Given the description of an element on the screen output the (x, y) to click on. 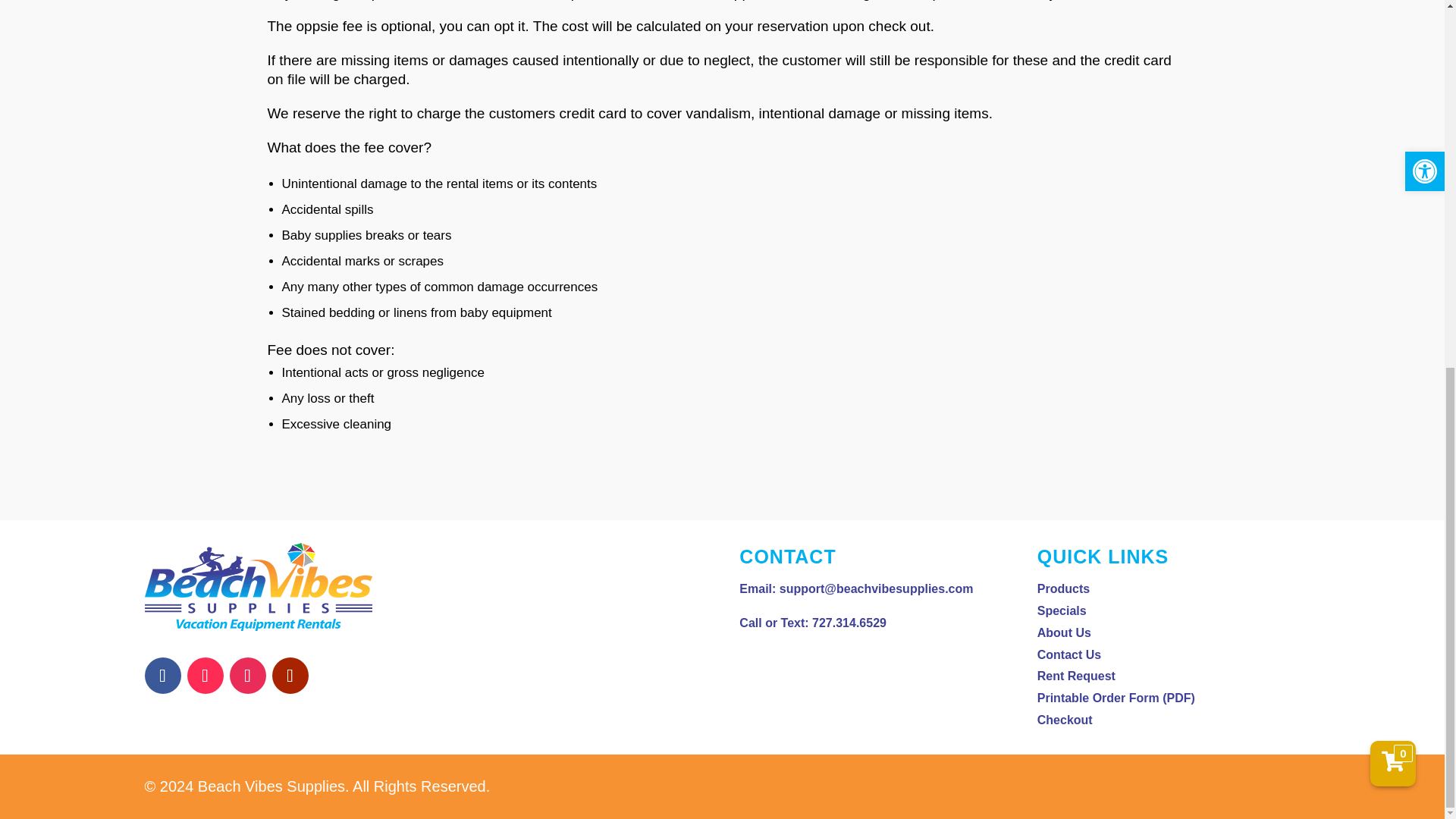
Follow on Youtube (288, 675)
BeachVibes-logo (257, 586)
Follow on TikTok (204, 675)
Follow on Instagram (246, 675)
Follow on Facebook (162, 675)
